Given the description of an element on the screen output the (x, y) to click on. 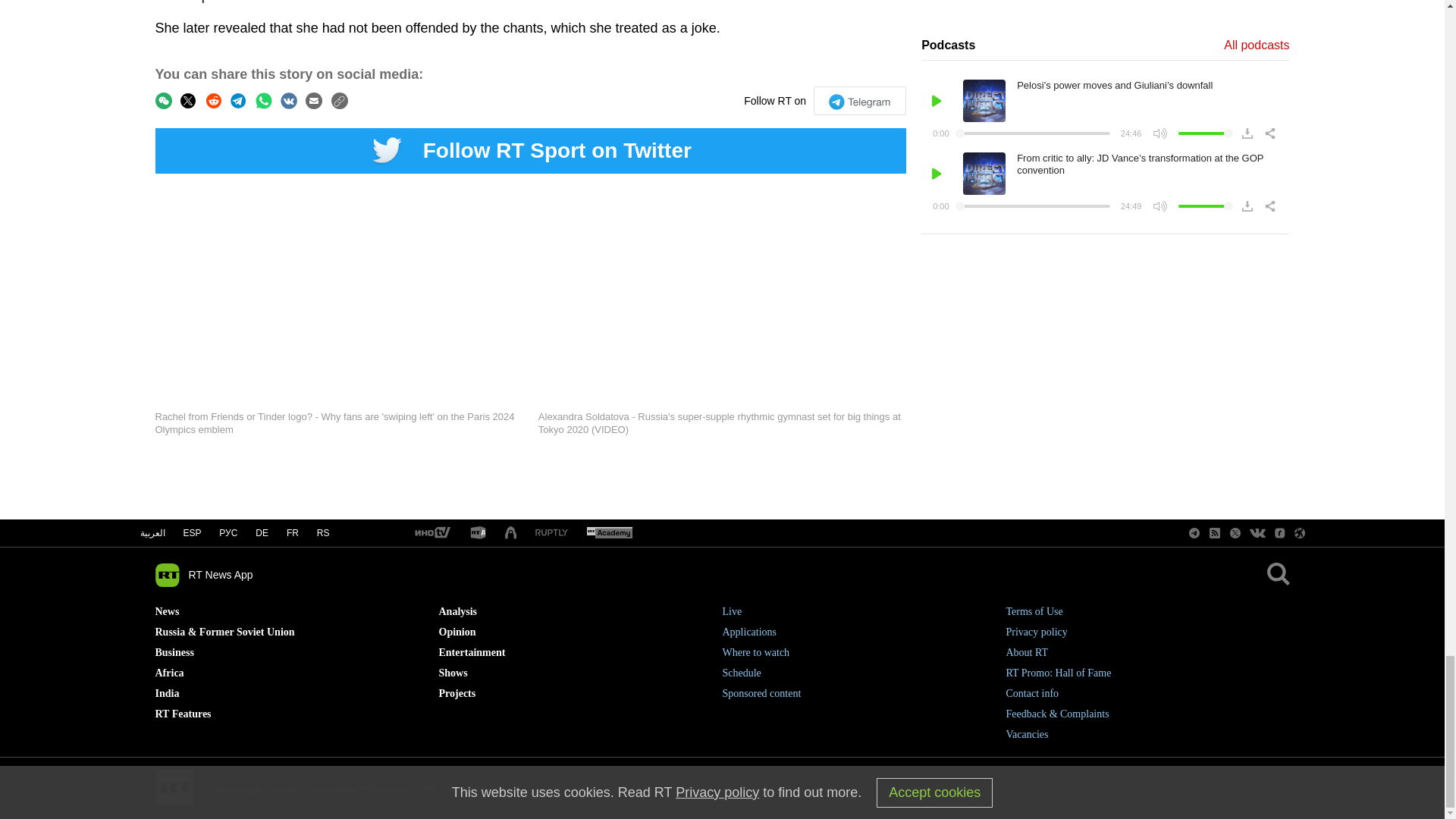
RT  (510, 533)
RT  (431, 533)
RT  (608, 533)
RT  (478, 533)
RT  (551, 533)
